Given the description of an element on the screen output the (x, y) to click on. 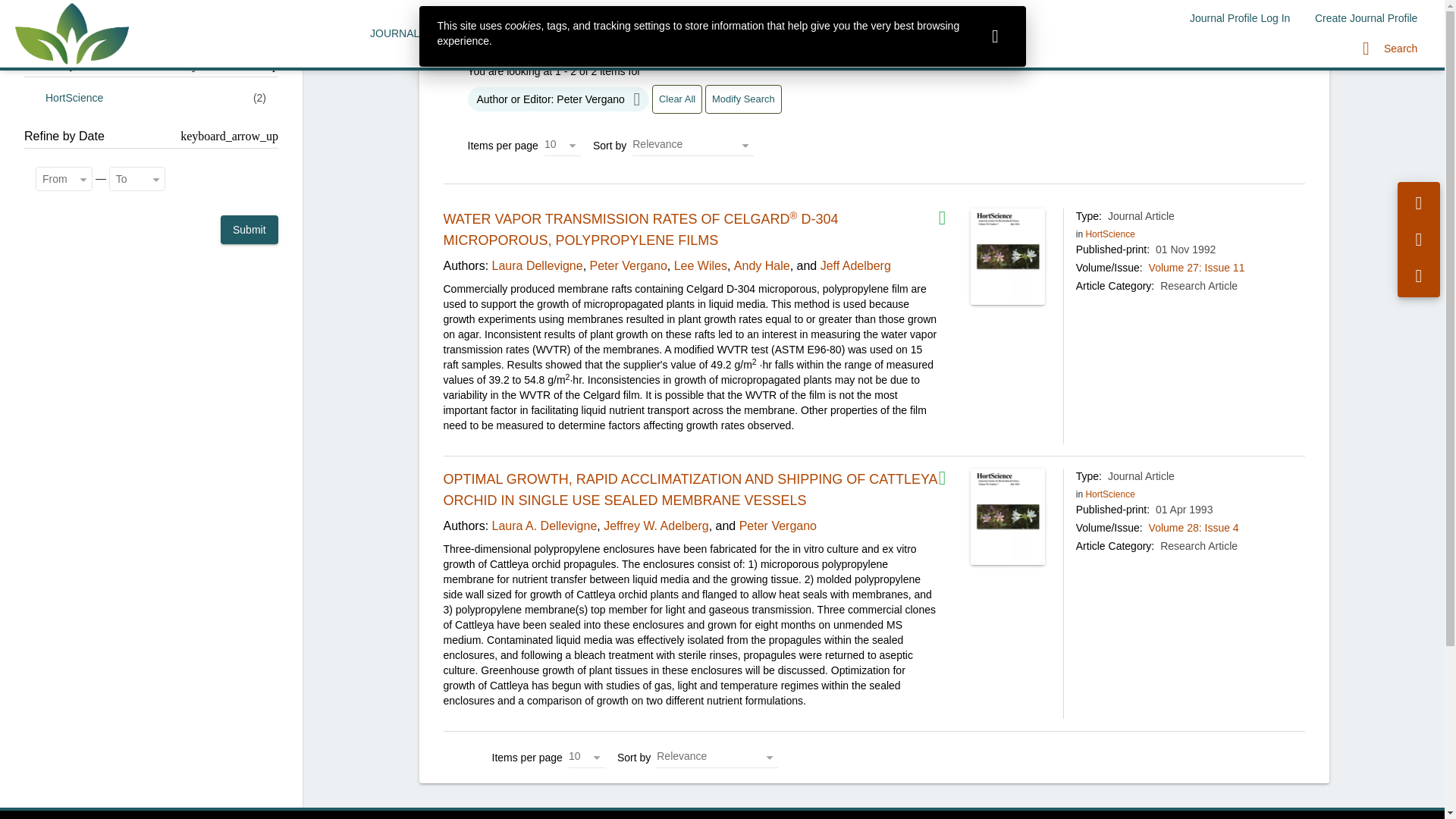
STORE (918, 32)
ADVERTISERS (657, 32)
FAQS (582, 32)
JOURNALS (398, 32)
FAQS (582, 32)
Create Journal Profile (1366, 18)
ABOUT ASHS (842, 32)
PUBLISH WITH US (497, 32)
ABOUT ASHS (842, 32)
Dismiss this warning (994, 36)
ASHS HOME (751, 32)
Search (1390, 48)
STORE (918, 32)
ADVERTISERS (657, 32)
Jump to Content (40, 8)
